Given the description of an element on the screen output the (x, y) to click on. 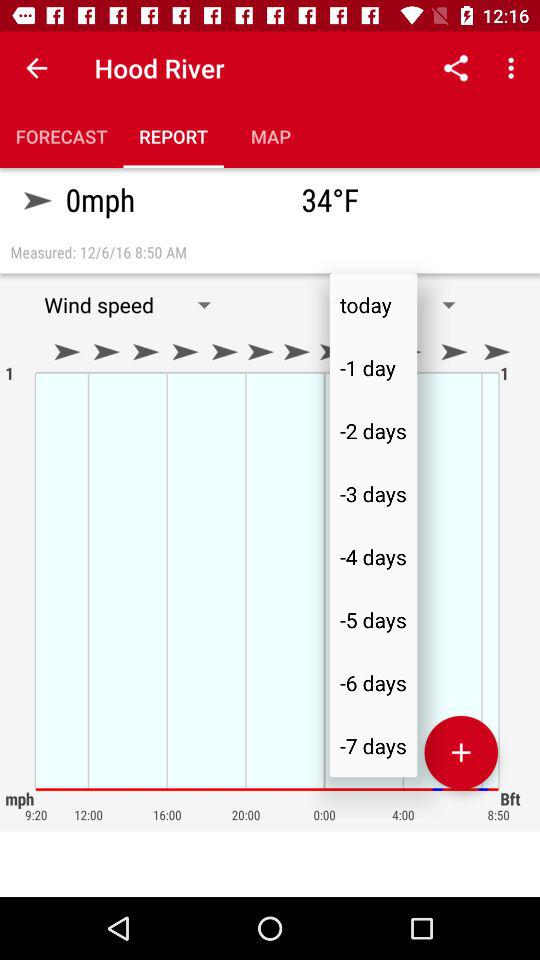
go to increase (461, 752)
